Given the description of an element on the screen output the (x, y) to click on. 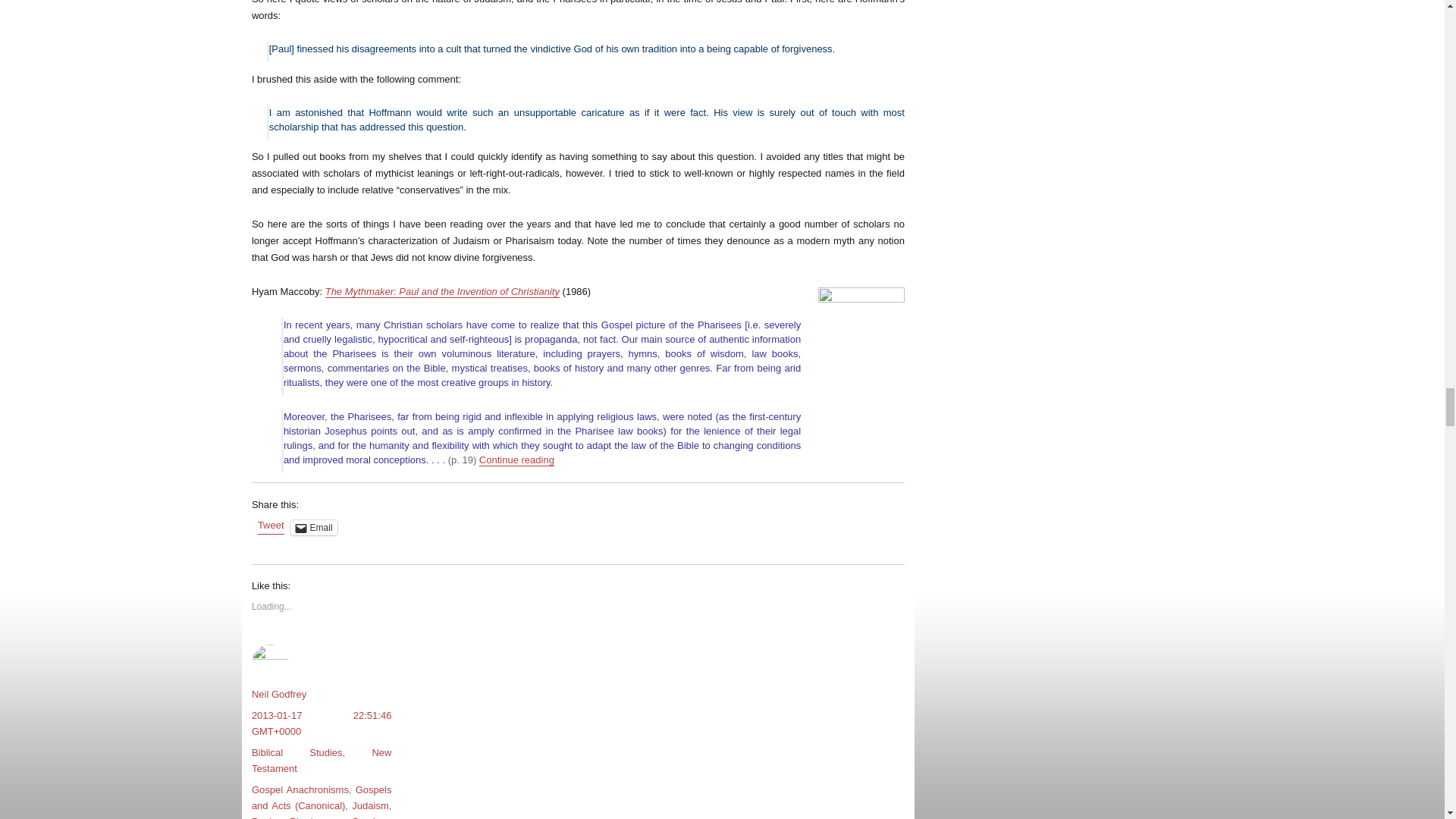
Click to email a link to a friend (313, 527)
